Given the description of an element on the screen output the (x, y) to click on. 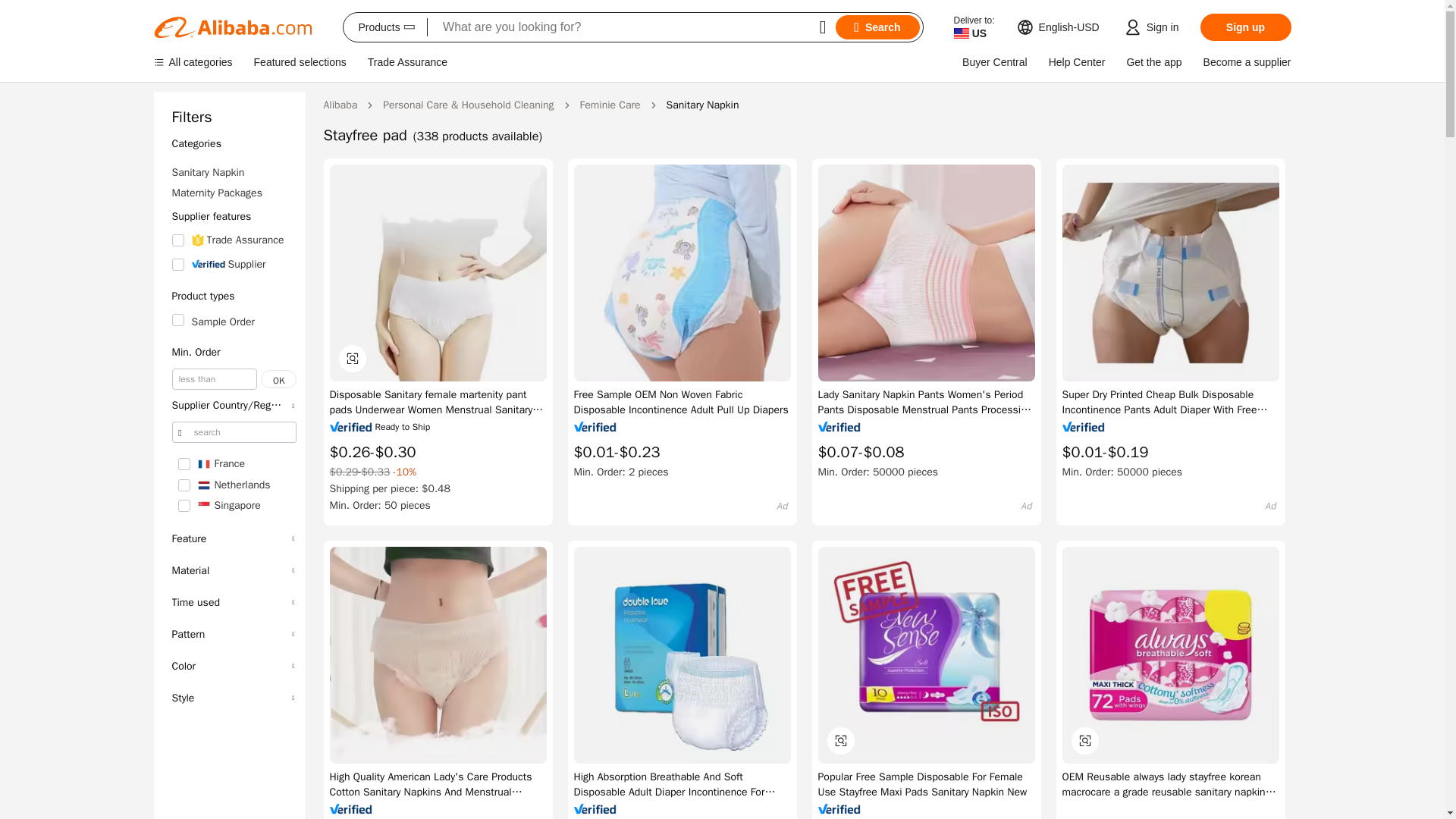
Categories (233, 143)
Supplier features (233, 216)
Maternity Packages (233, 192)
Sanitary Napkin (233, 172)
